Given the description of an element on the screen output the (x, y) to click on. 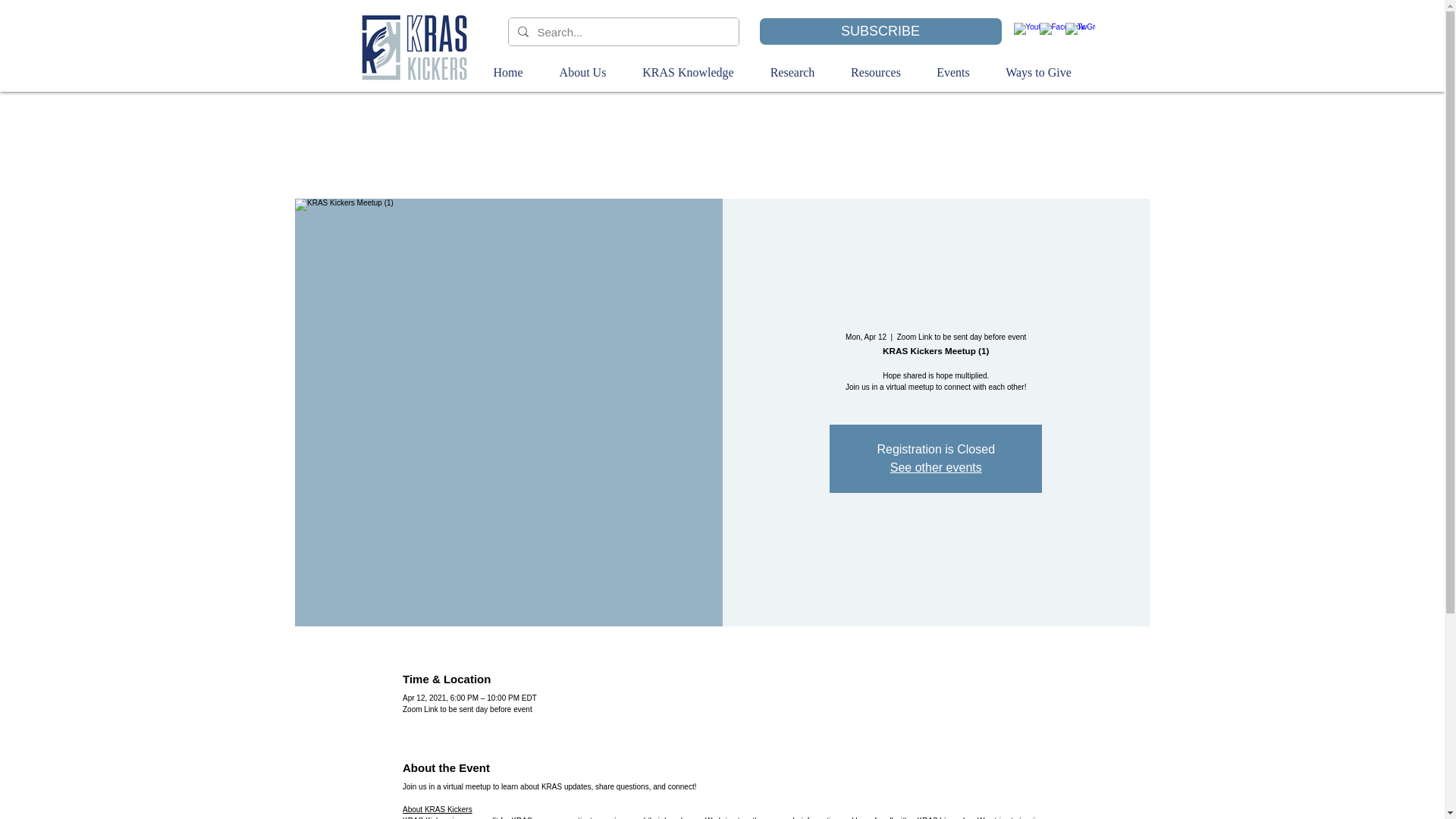
SUBSCRIBE (880, 30)
Home (507, 72)
See other events (935, 467)
